Given the description of an element on the screen output the (x, y) to click on. 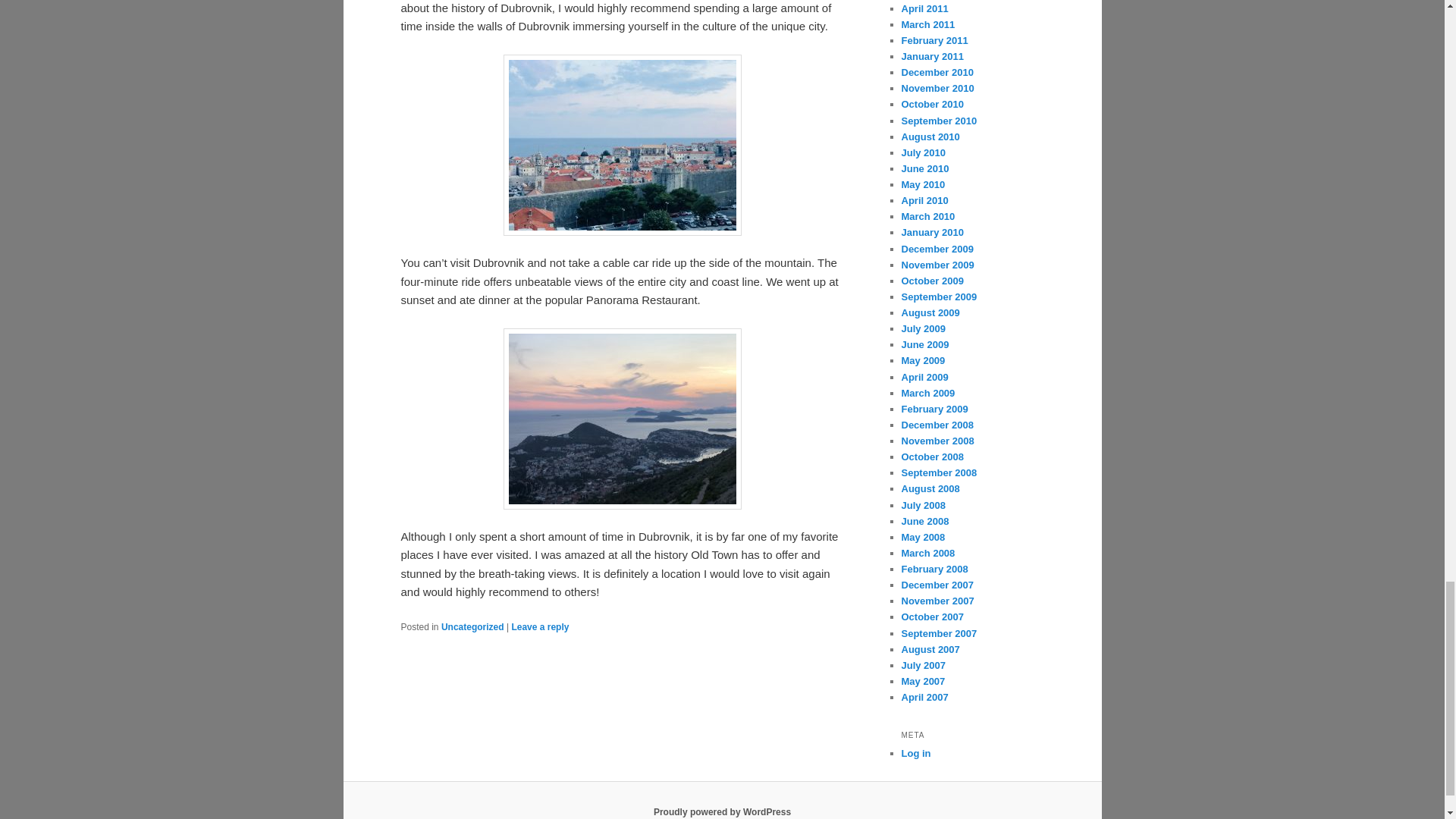
Semantic Personal Publishing Platform (721, 811)
Uncategorized (472, 626)
Leave a reply (540, 626)
